Given the description of an element on the screen output the (x, y) to click on. 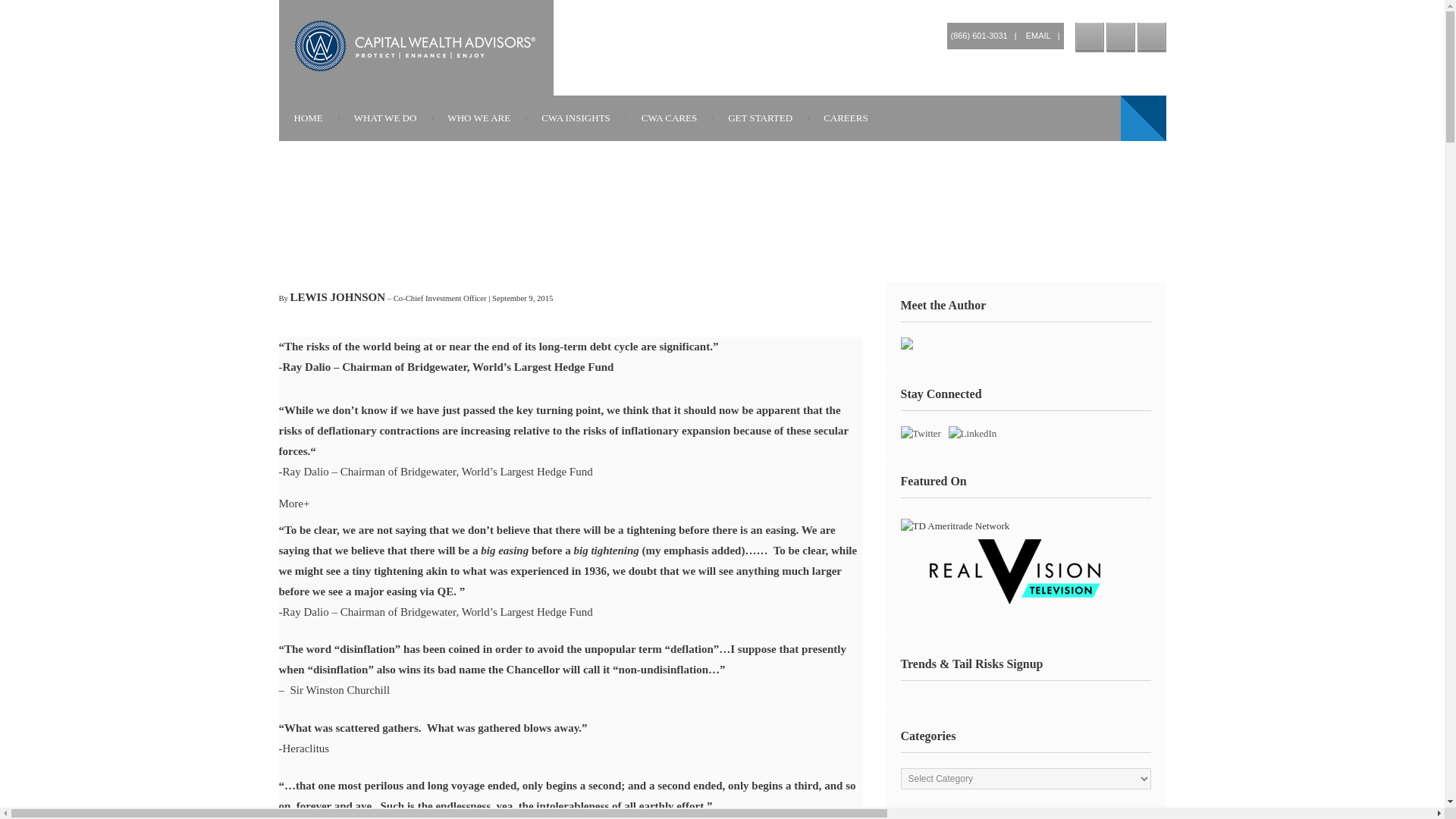
HOME (308, 117)
WHO WE ARE (478, 117)
CWA INSIGHTS (575, 117)
Our Team (337, 297)
Capital Wealth Advisors (416, 46)
Facebook (1151, 37)
CAREERS (845, 117)
WHAT WE DO (385, 117)
CWA CARES (668, 117)
LEWIS JOHNSON (337, 297)
